Given the description of an element on the screen output the (x, y) to click on. 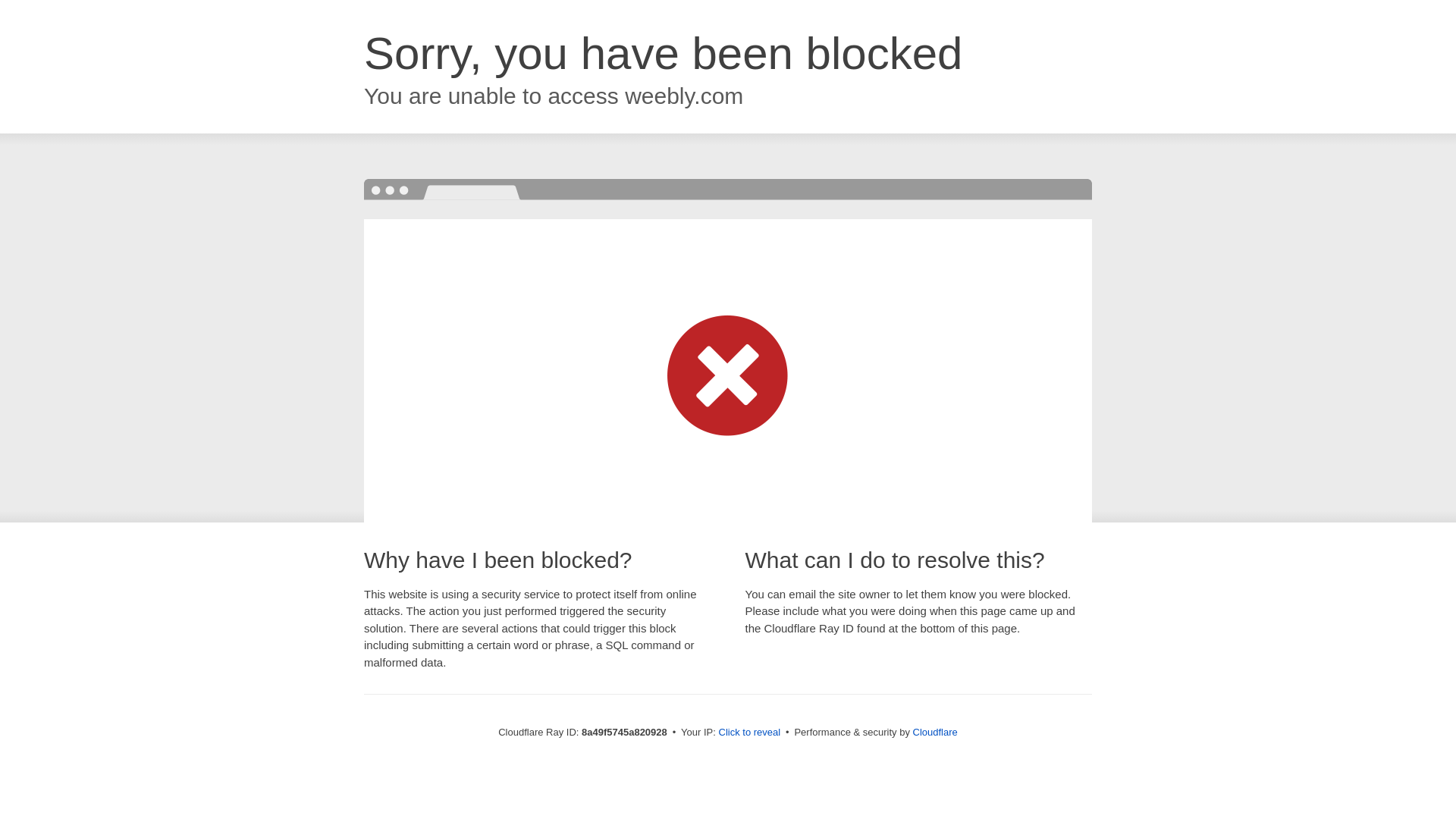
Cloudflare (935, 731)
Click to reveal (749, 732)
